Given the description of an element on the screen output the (x, y) to click on. 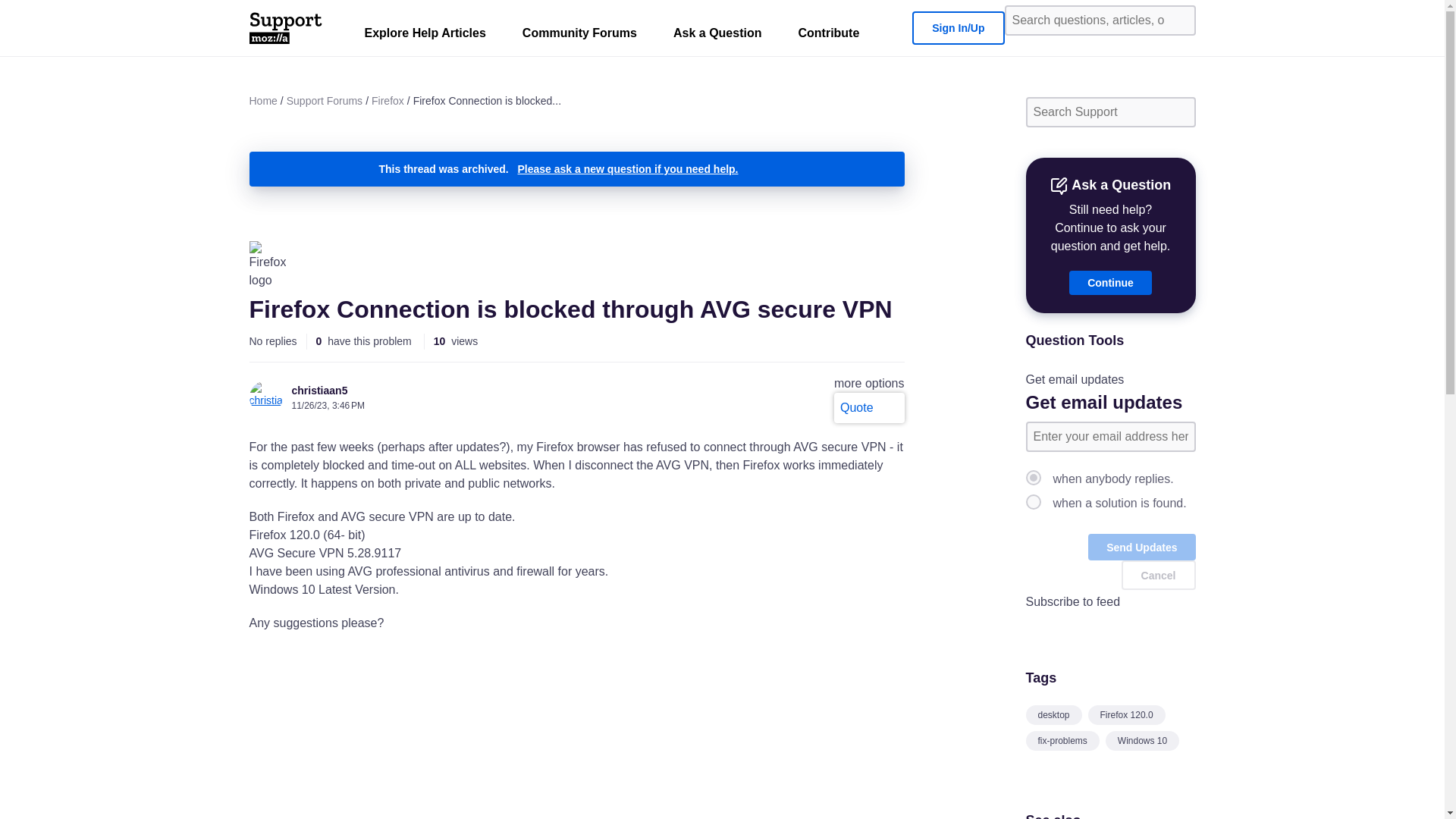
Ask a Question (716, 37)
Community Forums (579, 37)
Search (1178, 20)
Explore Help Articles (424, 37)
Send Updates (1141, 546)
Search (1178, 111)
